Given the description of an element on the screen output the (x, y) to click on. 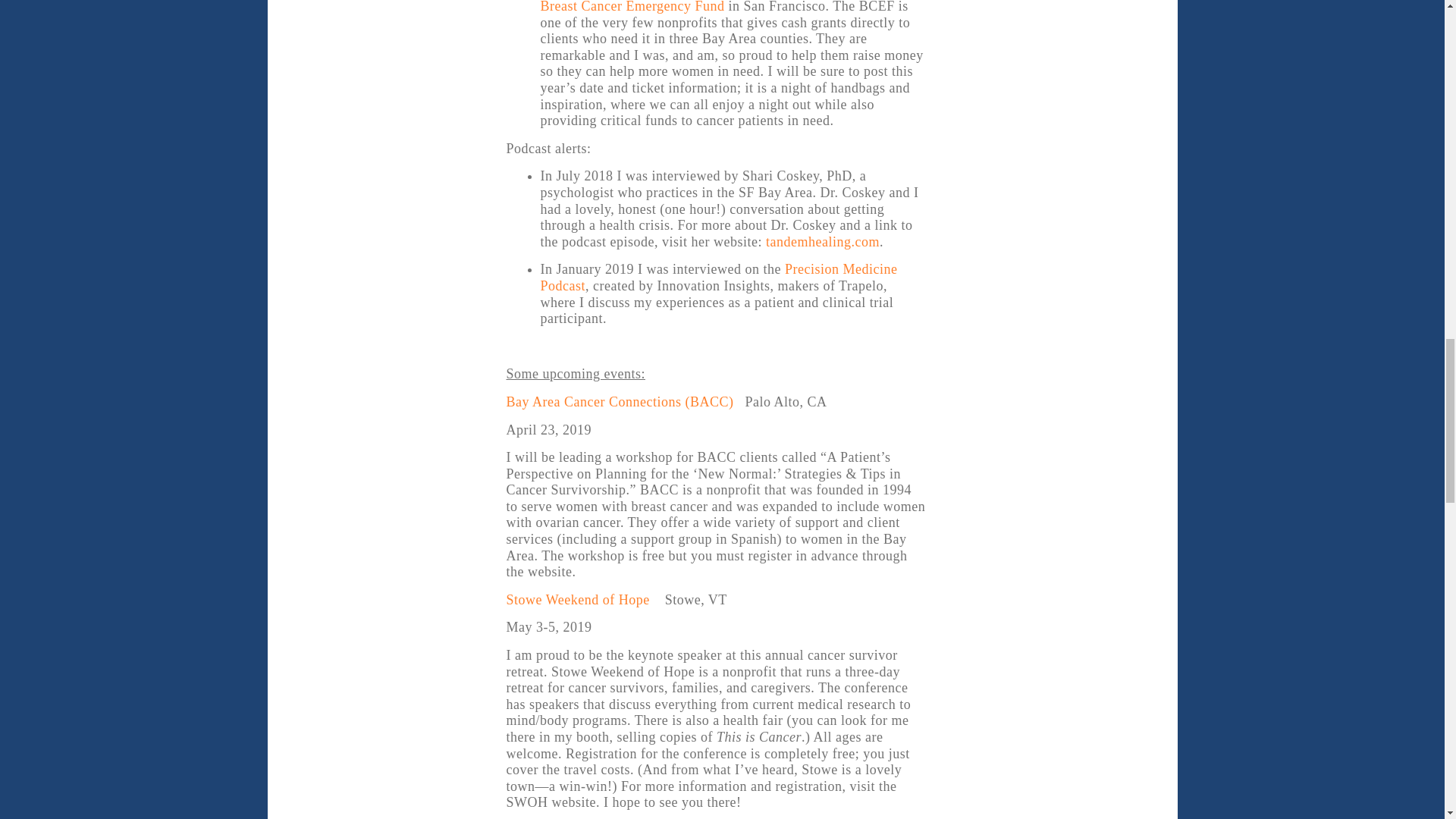
tandemhealing.com (820, 241)
Breast Cancer Emergency Fund (631, 6)
Stowe Weekend of Hope (577, 599)
Precision Medicine Podcast (718, 277)
